Given the description of an element on the screen output the (x, y) to click on. 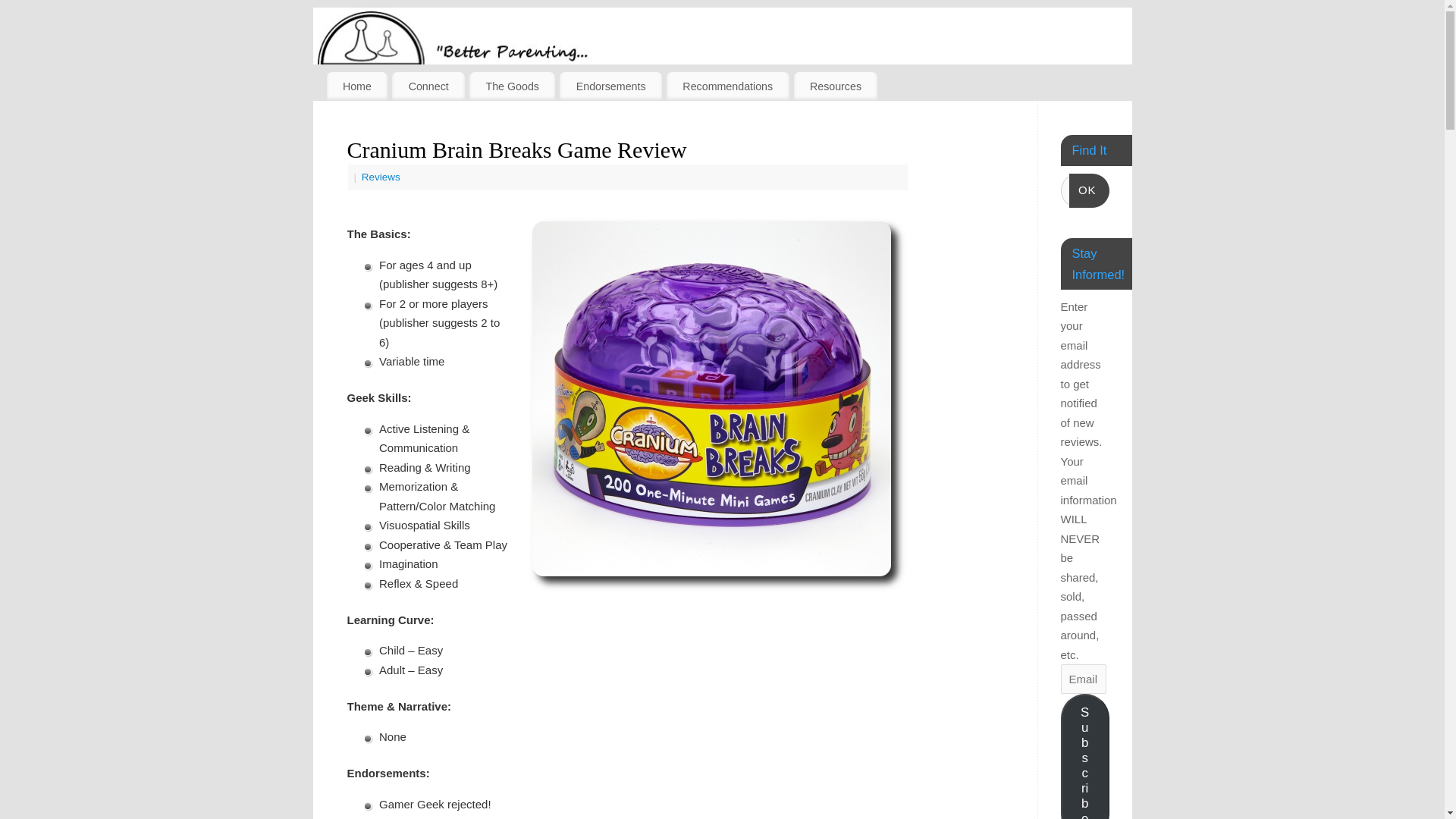
Connect (427, 86)
The Goods (511, 86)
Endorsements (610, 86)
Home (356, 86)
Recommendations (727, 86)
Resources (835, 86)
Reviews (380, 176)
